Given the description of an element on the screen output the (x, y) to click on. 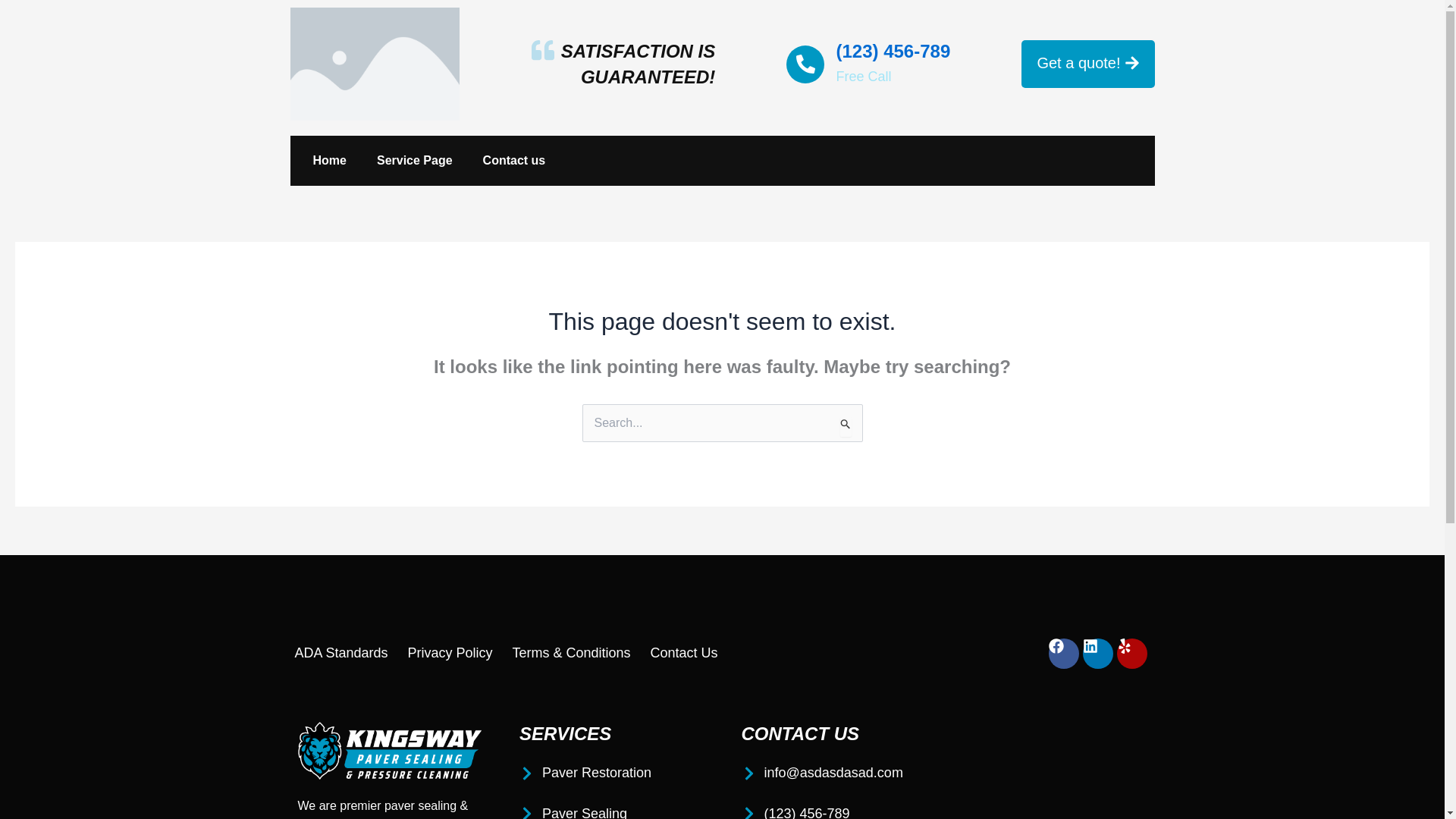
Get a quote! (1088, 63)
Service Page (414, 160)
Facebook (1063, 653)
Linkedin (1098, 653)
Home (329, 160)
Yelp (1131, 653)
Contact us (513, 160)
London Eye, London, United Kingdom (1054, 770)
